Given the description of an element on the screen output the (x, y) to click on. 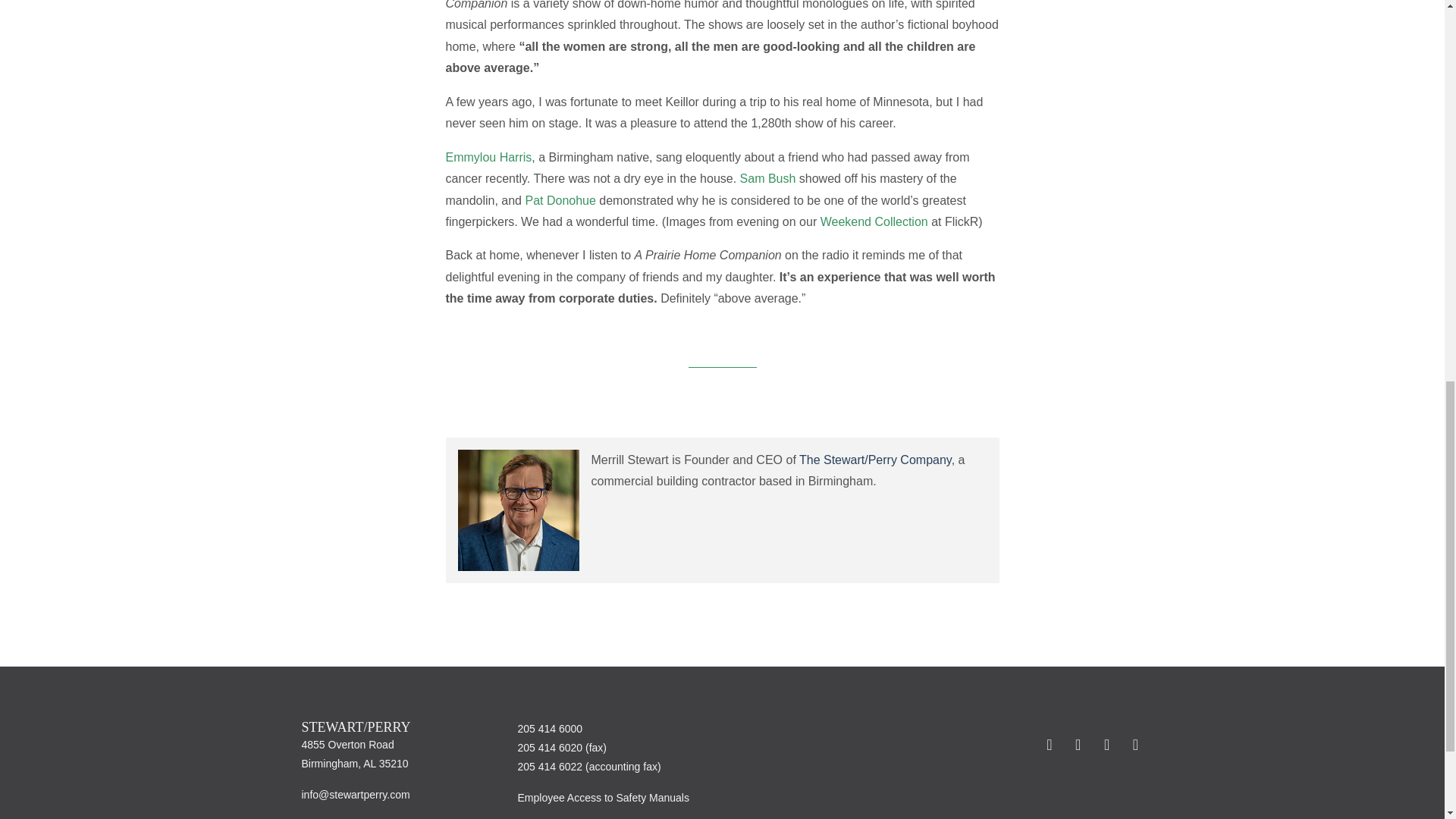
Employee Access to Safety Manuals (602, 797)
Sam Bush (767, 178)
Weekend Collection (874, 221)
Emmylou Harris (488, 156)
Pat Donohue (559, 200)
205 414 6000 (549, 728)
